Given the description of an element on the screen output the (x, y) to click on. 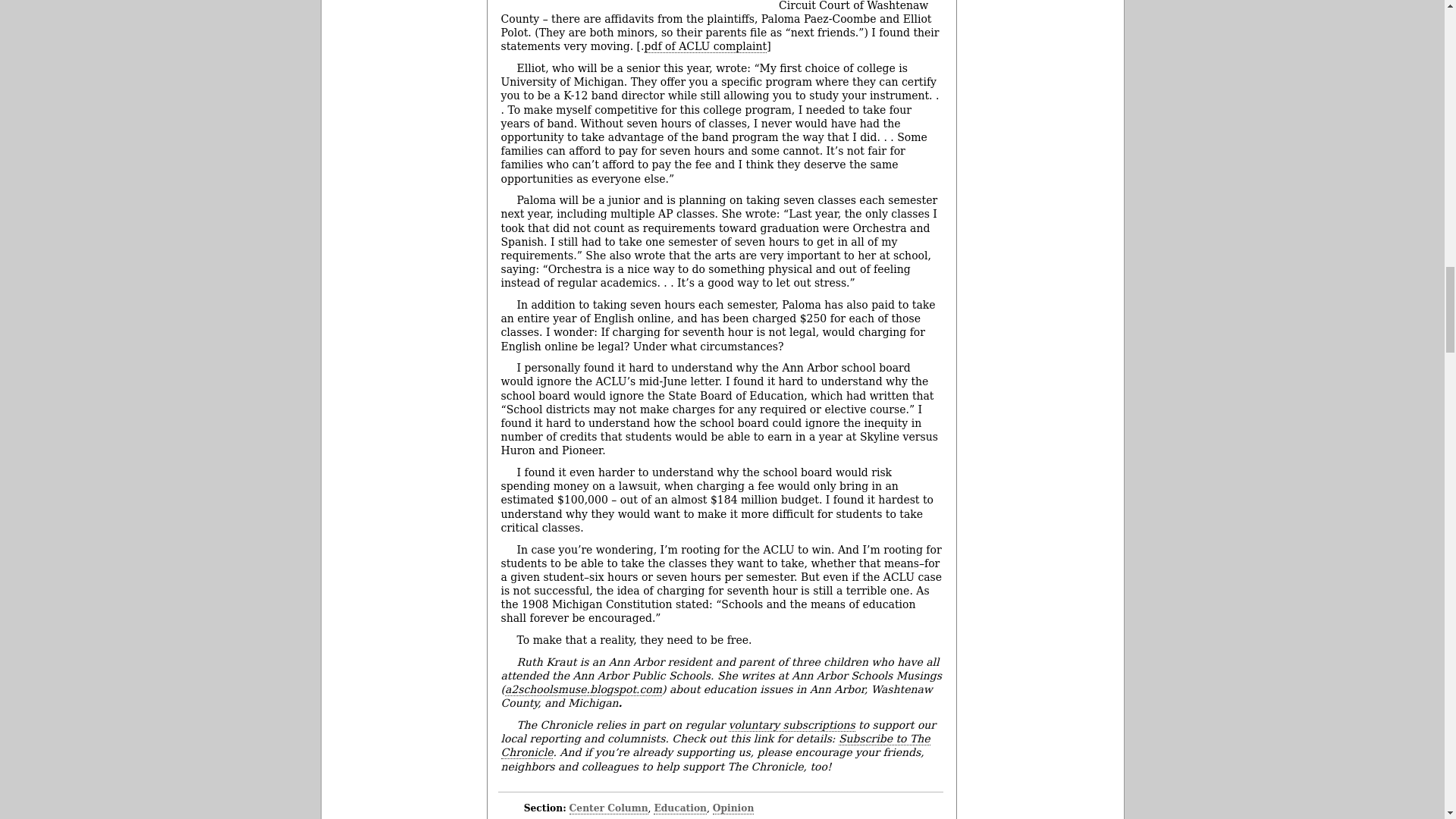
pdf of ACLU complaint (706, 46)
View all posts in Education (679, 808)
a2schoolsmuse.blogspot.com (583, 689)
View all posts in Center Column (608, 808)
Education (679, 808)
View all posts in Opinion (733, 808)
Center Column (608, 808)
Opinion (733, 808)
